Given the description of an element on the screen output the (x, y) to click on. 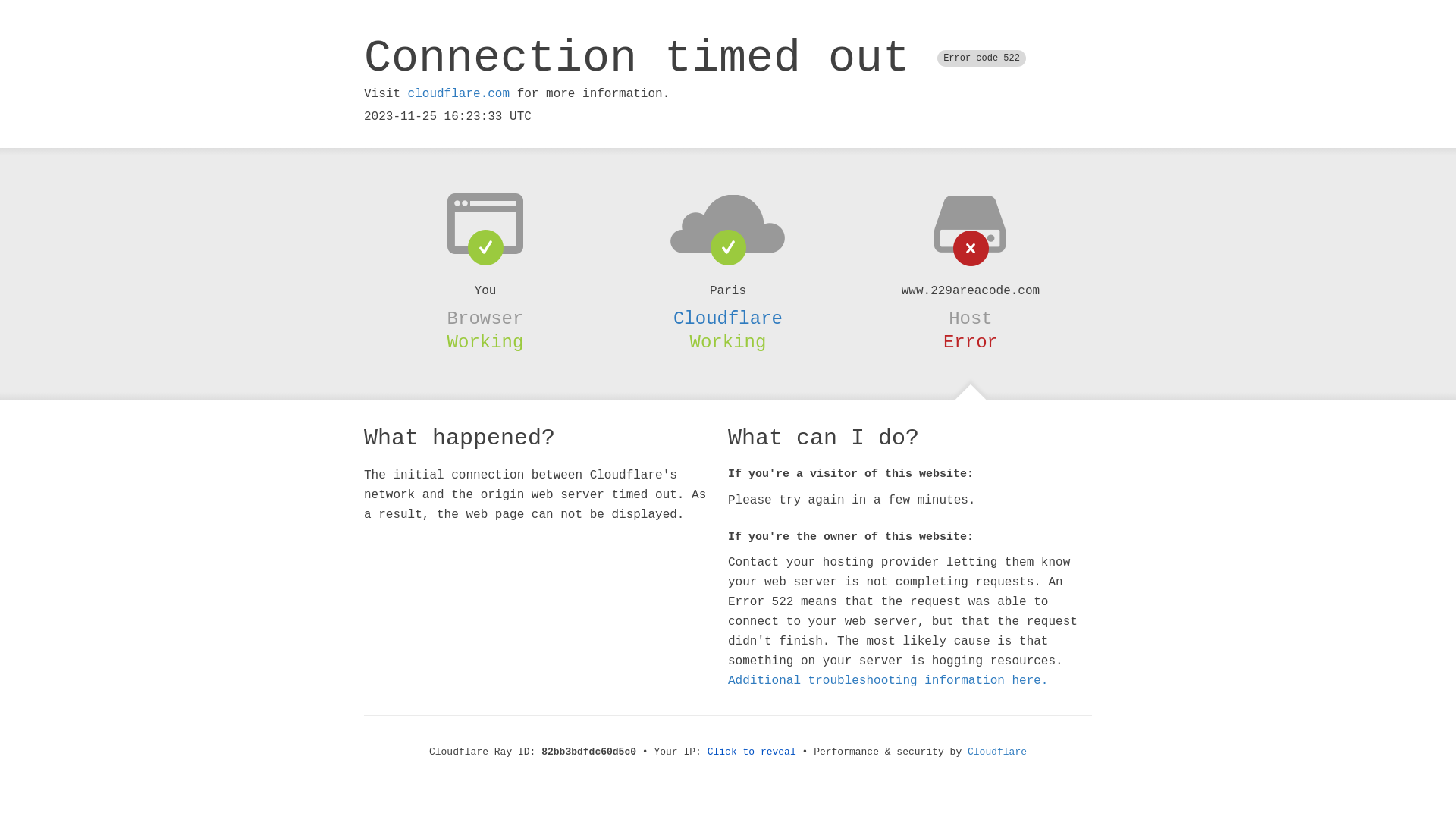
cloudflare.com Element type: text (458, 93)
Cloudflare Element type: text (996, 751)
Cloudflare Element type: text (727, 318)
Additional troubleshooting information here. Element type: text (888, 680)
Click to reveal Element type: text (751, 751)
